Given the description of an element on the screen output the (x, y) to click on. 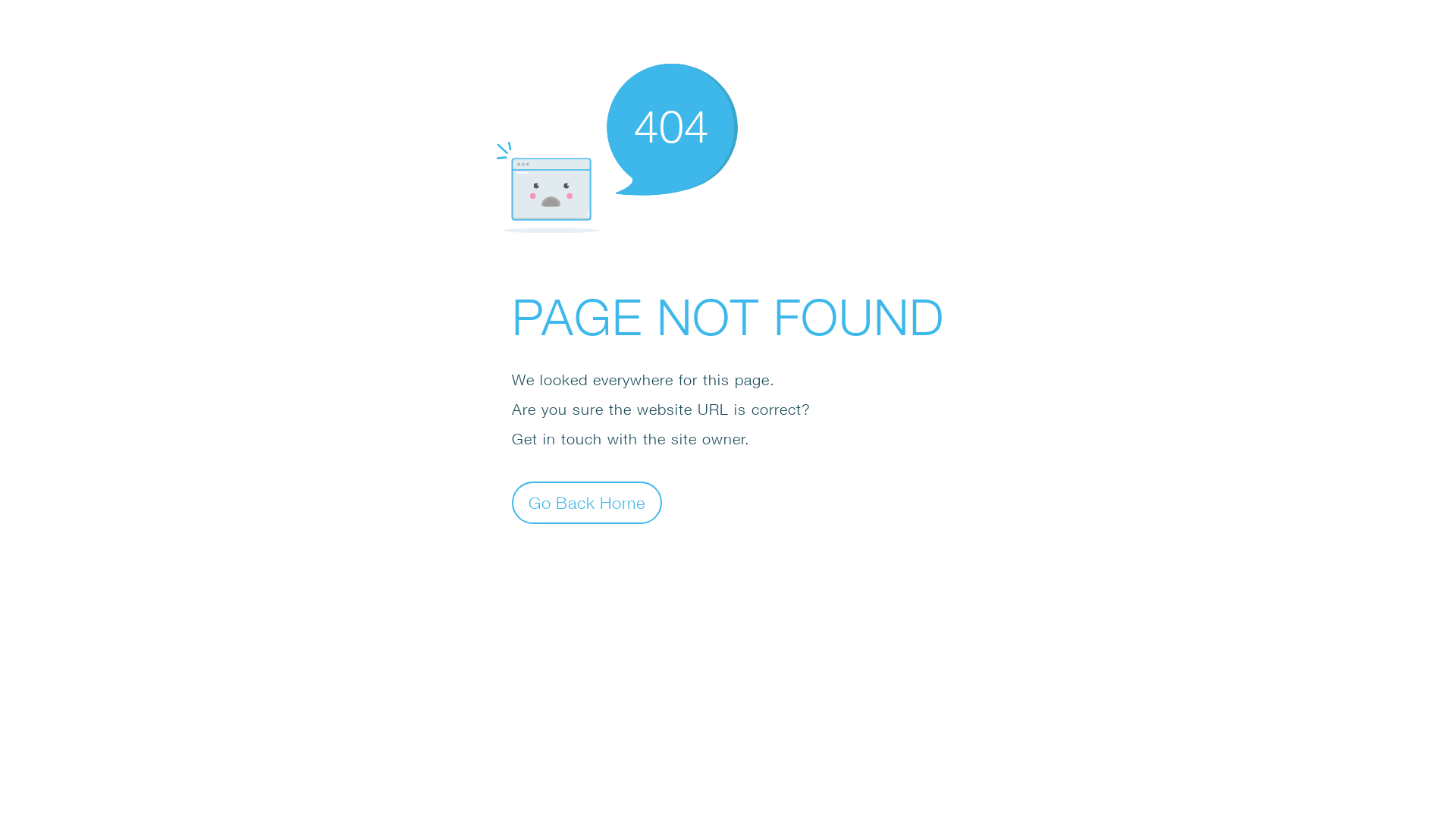
Go Back Home Element type: text (586, 502)
